Given the description of an element on the screen output the (x, y) to click on. 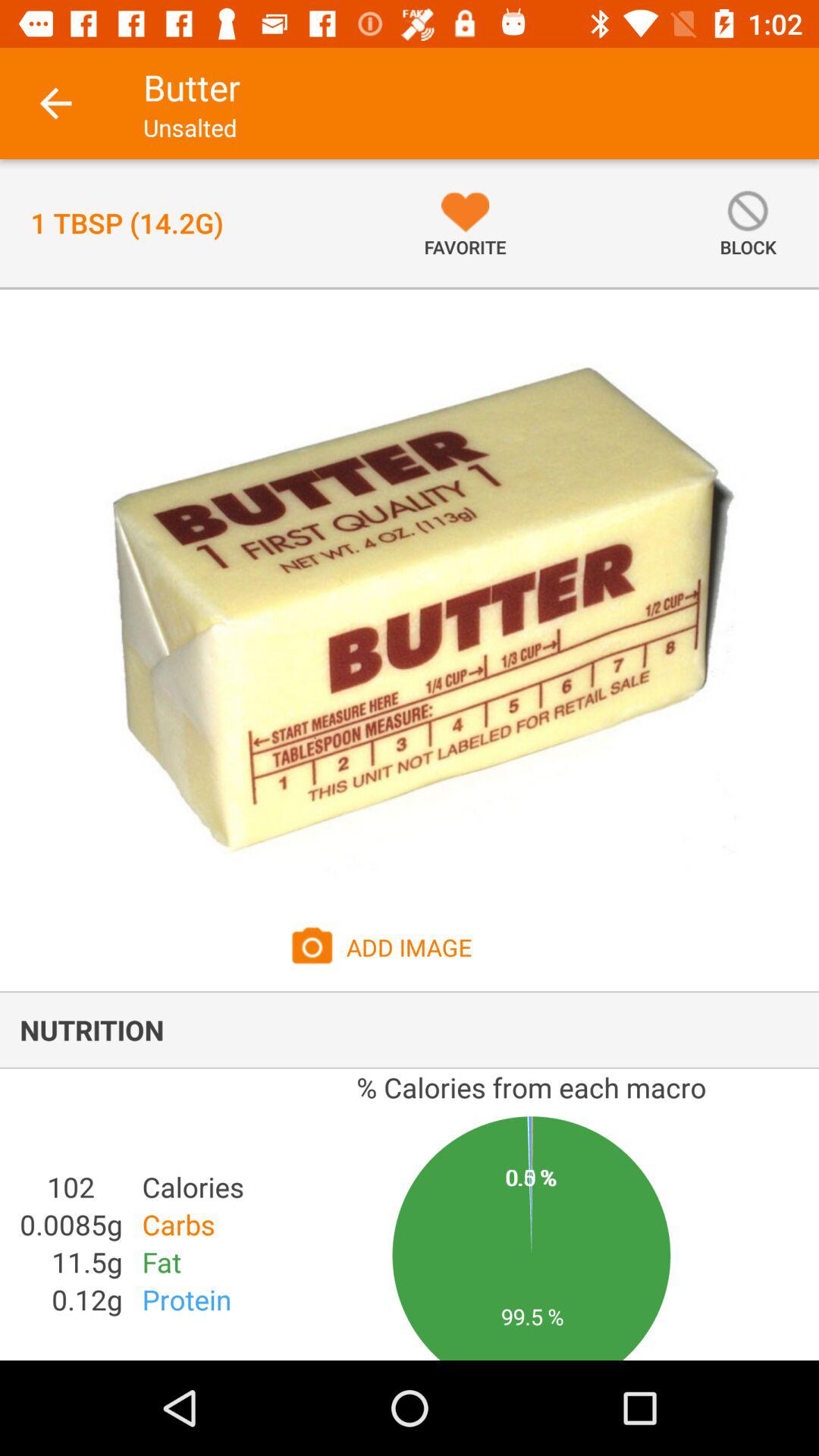
click the button block on the web page (748, 223)
click on camera icon which is beside add image (311, 947)
